Given the description of an element on the screen output the (x, y) to click on. 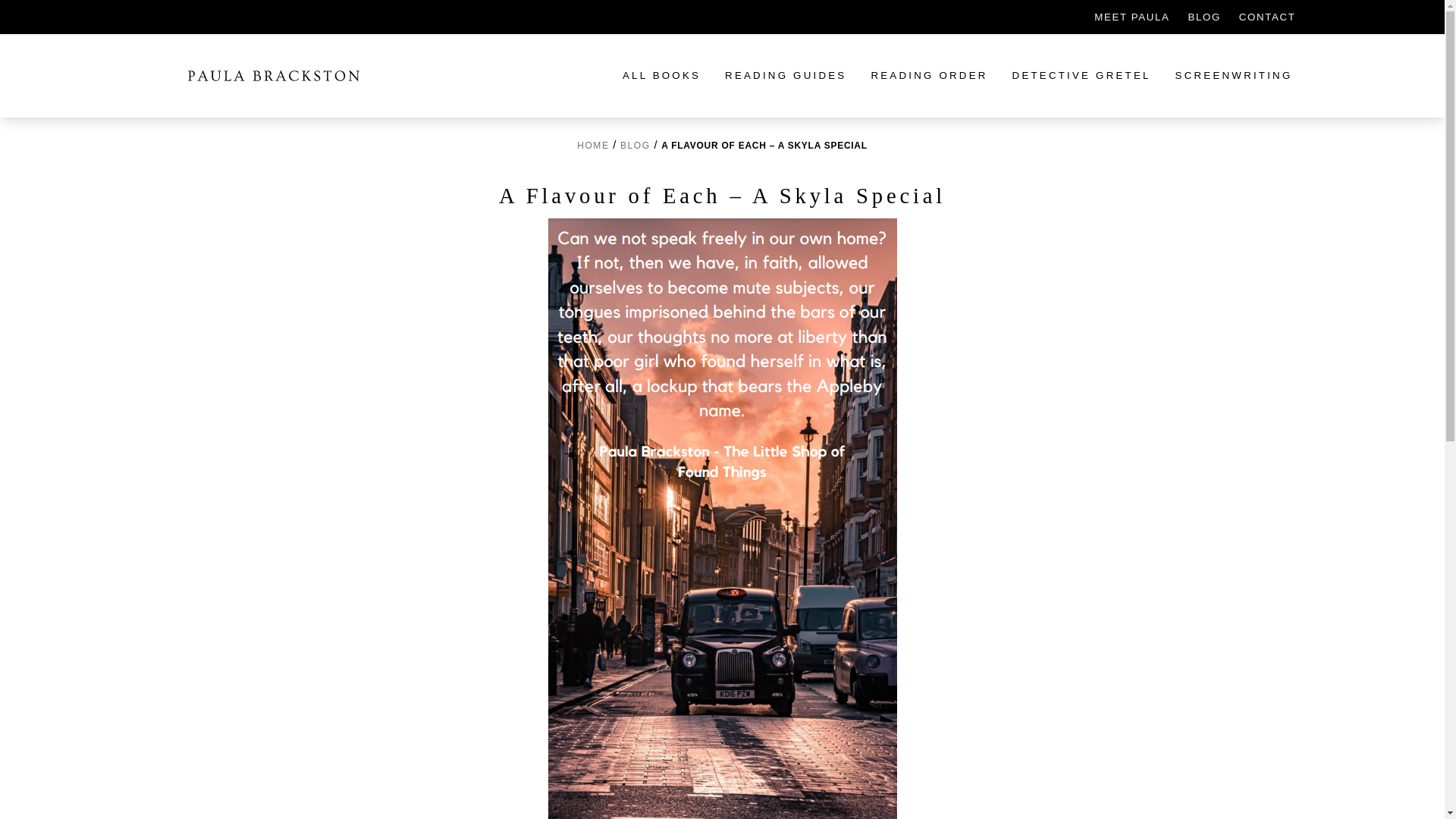
READING ORDER (928, 75)
ALL BOOKS (661, 75)
SCREENWRITING (1233, 75)
MEET PAULA (1131, 16)
BLOG (635, 145)
READING GUIDES (785, 75)
DETECTIVE GRETEL (1081, 75)
CONTACT (1267, 16)
BLOG (1204, 16)
HOME (592, 145)
